Given the description of an element on the screen output the (x, y) to click on. 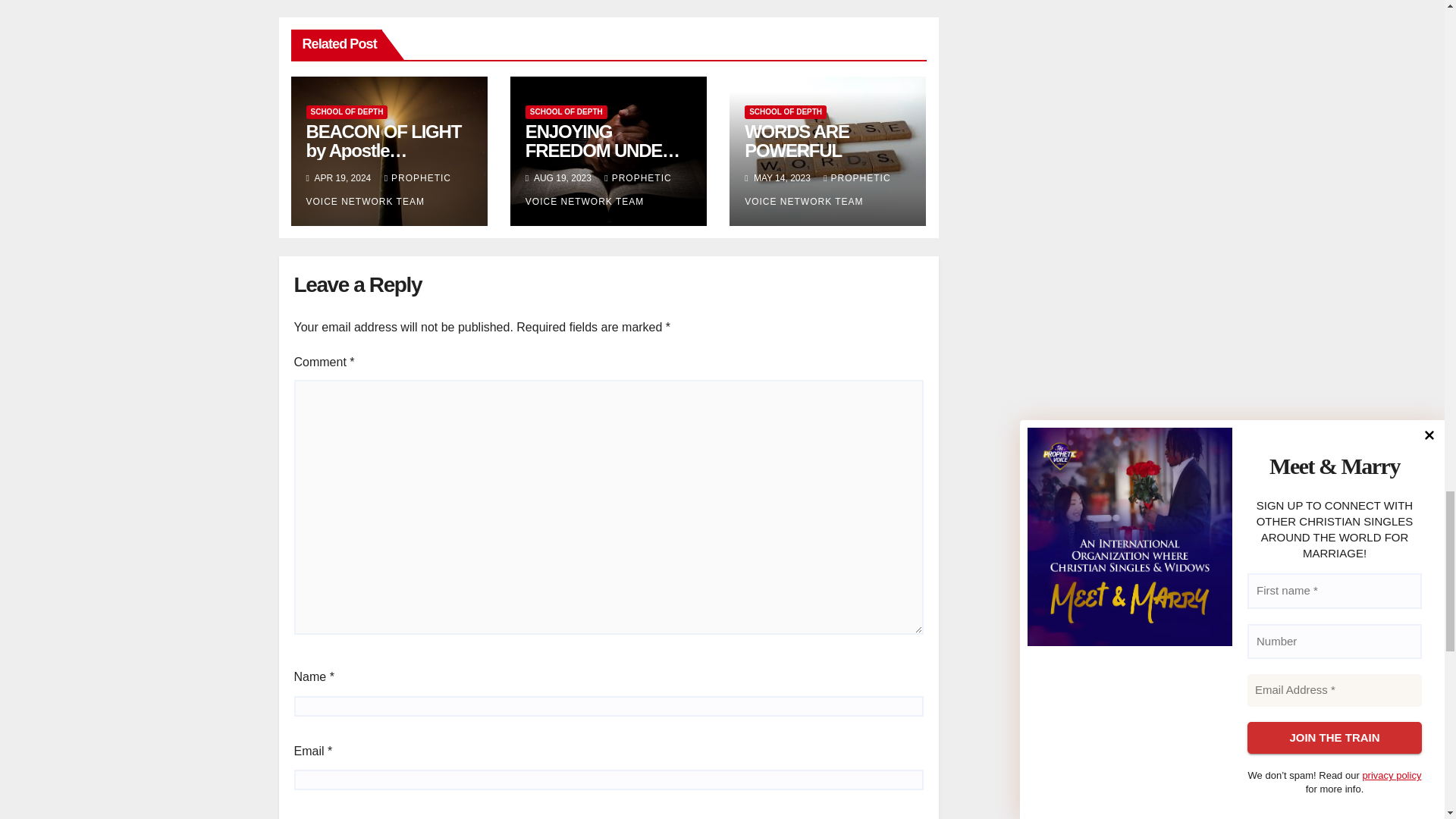
BEACON OF LIGHT by Apostle Emmanuel Simms (383, 150)
PROPHETIC VOICE NETWORK TEAM (378, 189)
SCHOOL OF DEPTH (346, 111)
SCHOOL OF DEPTH (566, 111)
